Given the description of an element on the screen output the (x, y) to click on. 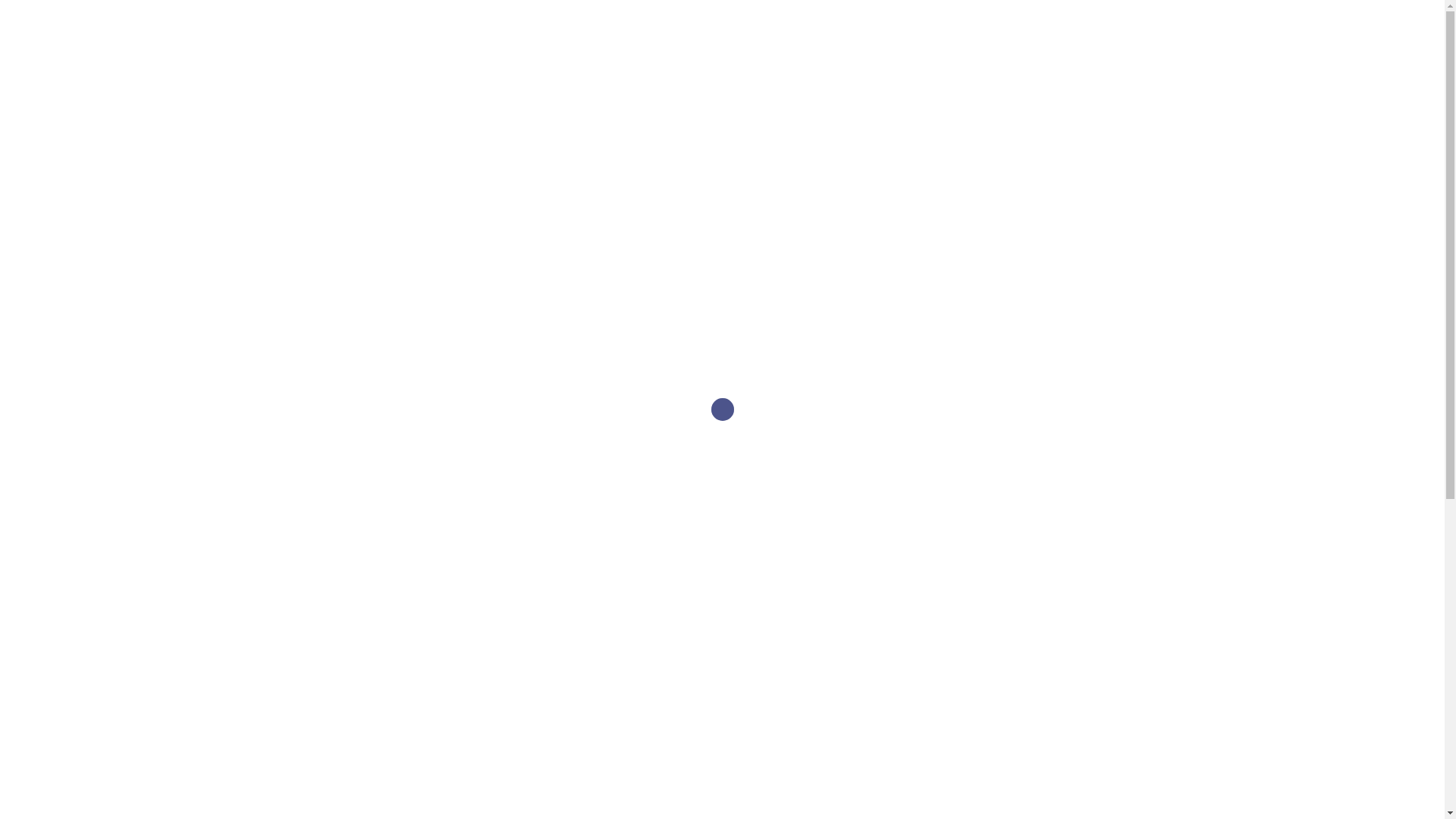
News Element type: text (972, 39)
HOME Element type: text (890, 39)
MIZUTANI Element type: text (428, 101)
